Given the description of an element on the screen output the (x, y) to click on. 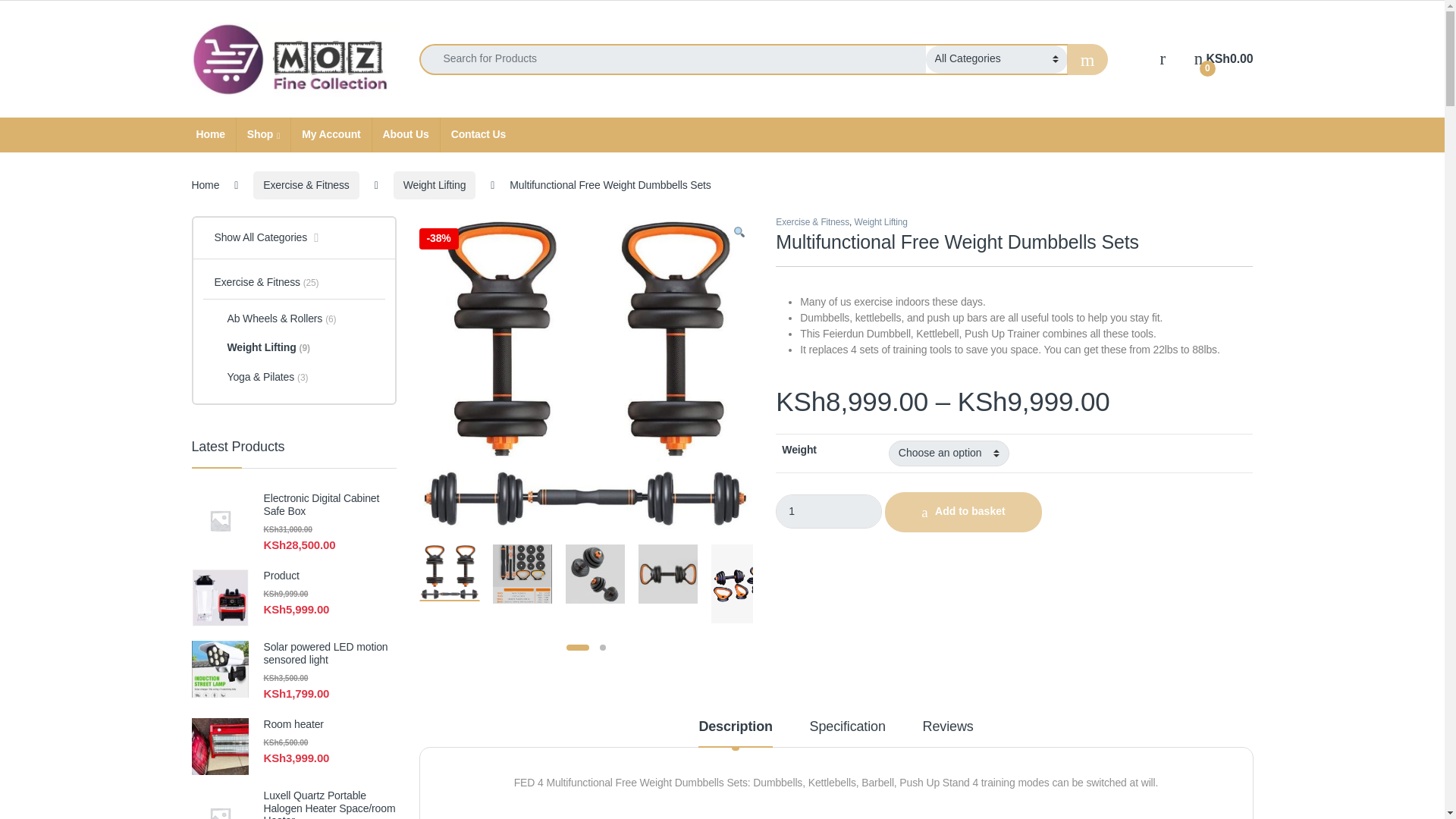
1 (829, 511)
